Given the description of an element on the screen output the (x, y) to click on. 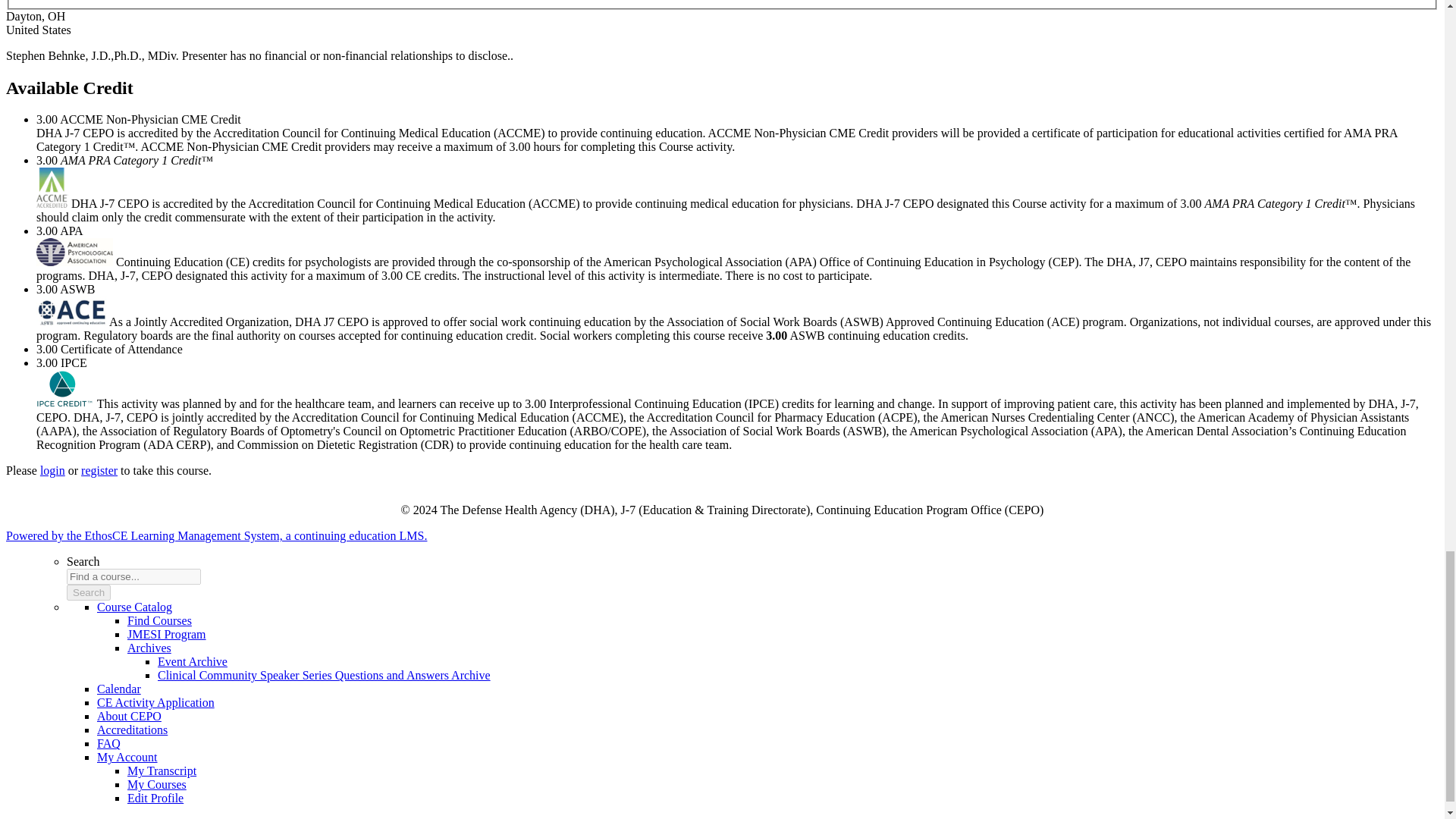
Search (88, 592)
